Given the description of an element on the screen output the (x, y) to click on. 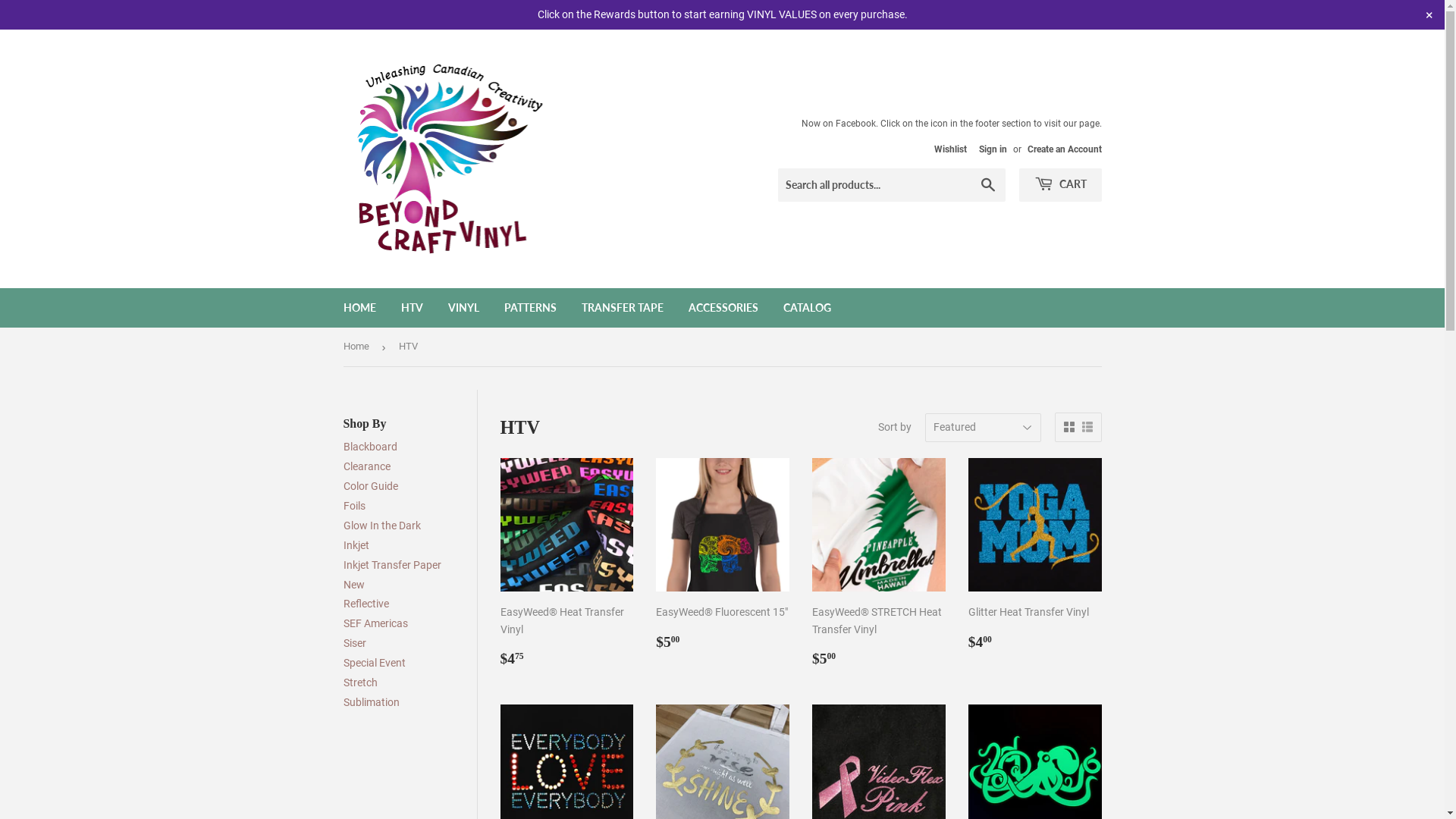
VINYL Element type: text (463, 307)
Home Element type: text (357, 346)
Sign in Element type: text (992, 118)
Create an Account Element type: text (1063, 119)
Reflective Element type: text (365, 603)
HTV Element type: text (411, 307)
Color Guide Element type: text (369, 486)
ACCESSORIES Element type: text (722, 307)
Inkjet Element type: text (355, 545)
SEF Americas Element type: text (374, 623)
Foils Element type: text (353, 505)
Siser Element type: text (353, 643)
HOME Element type: text (359, 306)
Special Event Element type: text (373, 662)
New Element type: text (353, 583)
Wishlist Element type: text (938, 119)
PATTERNS Element type: text (529, 307)
Inkjet Transfer Paper Element type: text (391, 564)
Sublimation Element type: text (370, 702)
Search Element type: text (987, 156)
Clearance Element type: text (365, 466)
List view Element type: hover (1086, 427)
Glitter Heat Transfer Vinyl
Regular price
$400
$4.00 Element type: text (1034, 560)
Blackboard Element type: text (369, 446)
Grid view Element type: hover (1068, 427)
CATALOG Element type: text (806, 307)
CART Element type: text (1060, 155)
TRANSFER TAPE Element type: text (622, 307)
Glow In the Dark Element type: text (381, 525)
Stretch Element type: text (359, 682)
